Given the description of an element on the screen output the (x, y) to click on. 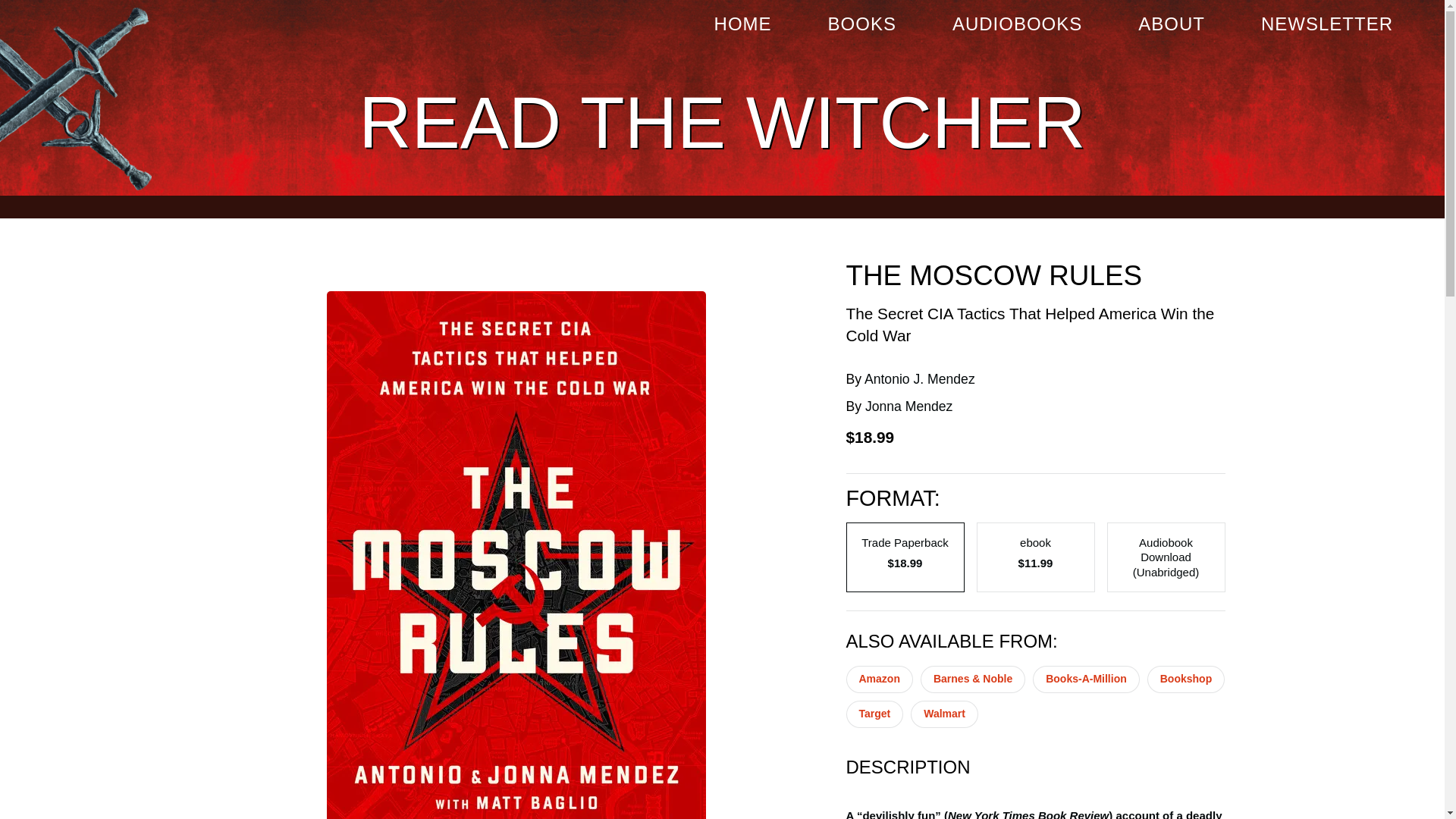
HOME (742, 24)
NEWSLETTER (1327, 24)
BOOKS (862, 24)
ABOUT (1171, 24)
Walmart (944, 714)
Target (874, 714)
Antonio J. Mendez (919, 378)
DESCRIPTION (1035, 766)
Amazon (878, 678)
READ THE WITCHER (721, 123)
